Given the description of an element on the screen output the (x, y) to click on. 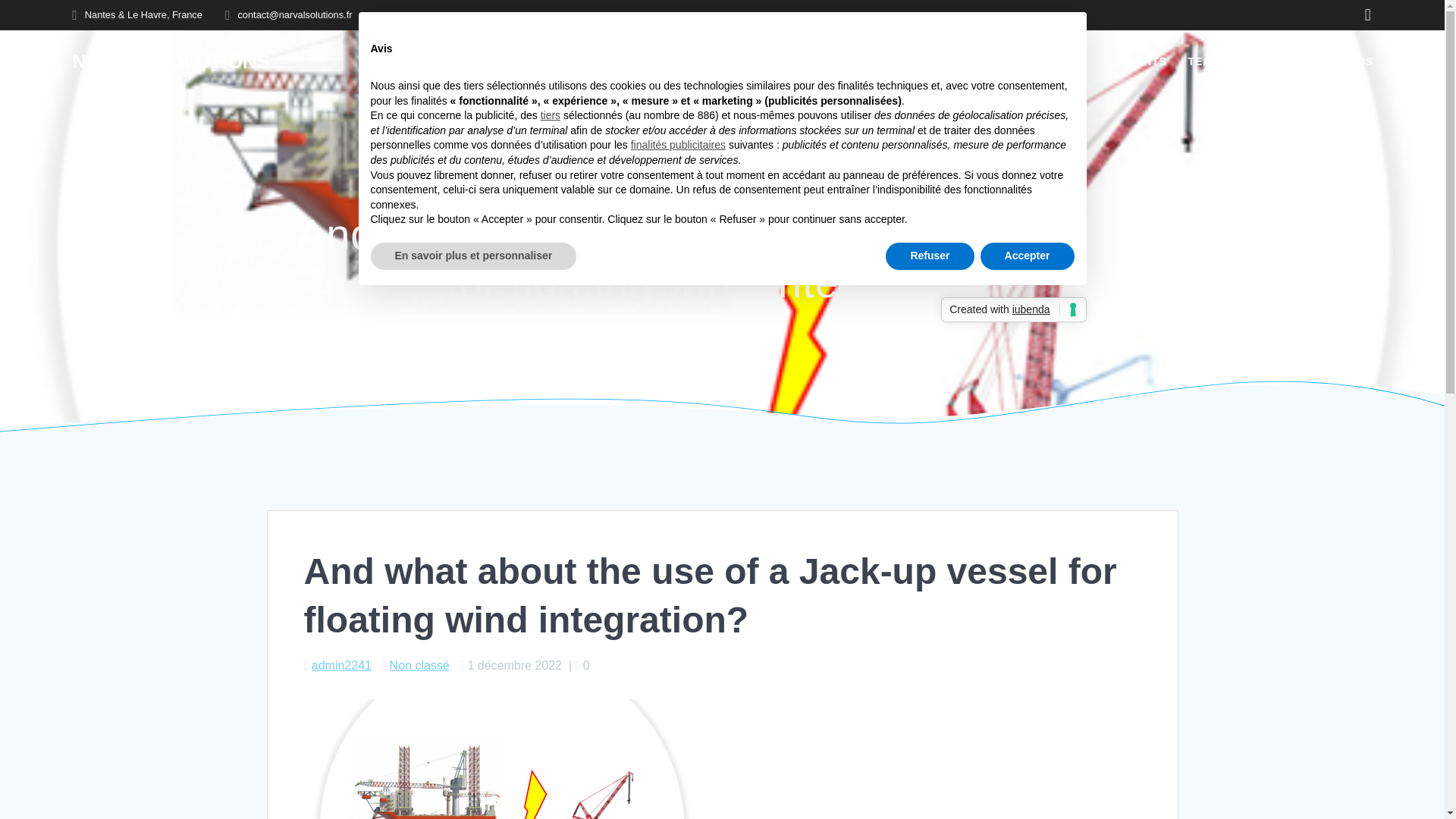
tiers (550, 115)
Created with iubenda (1013, 309)
admin2241 (341, 665)
En savoir plus et personnaliser (472, 256)
CONTACT US (1335, 62)
SERVICES (1066, 62)
ABOUT (995, 62)
NEWS (1258, 62)
Accepter (1026, 256)
NARVAL SOLUTIONS (170, 62)
